Given the description of an element on the screen output the (x, y) to click on. 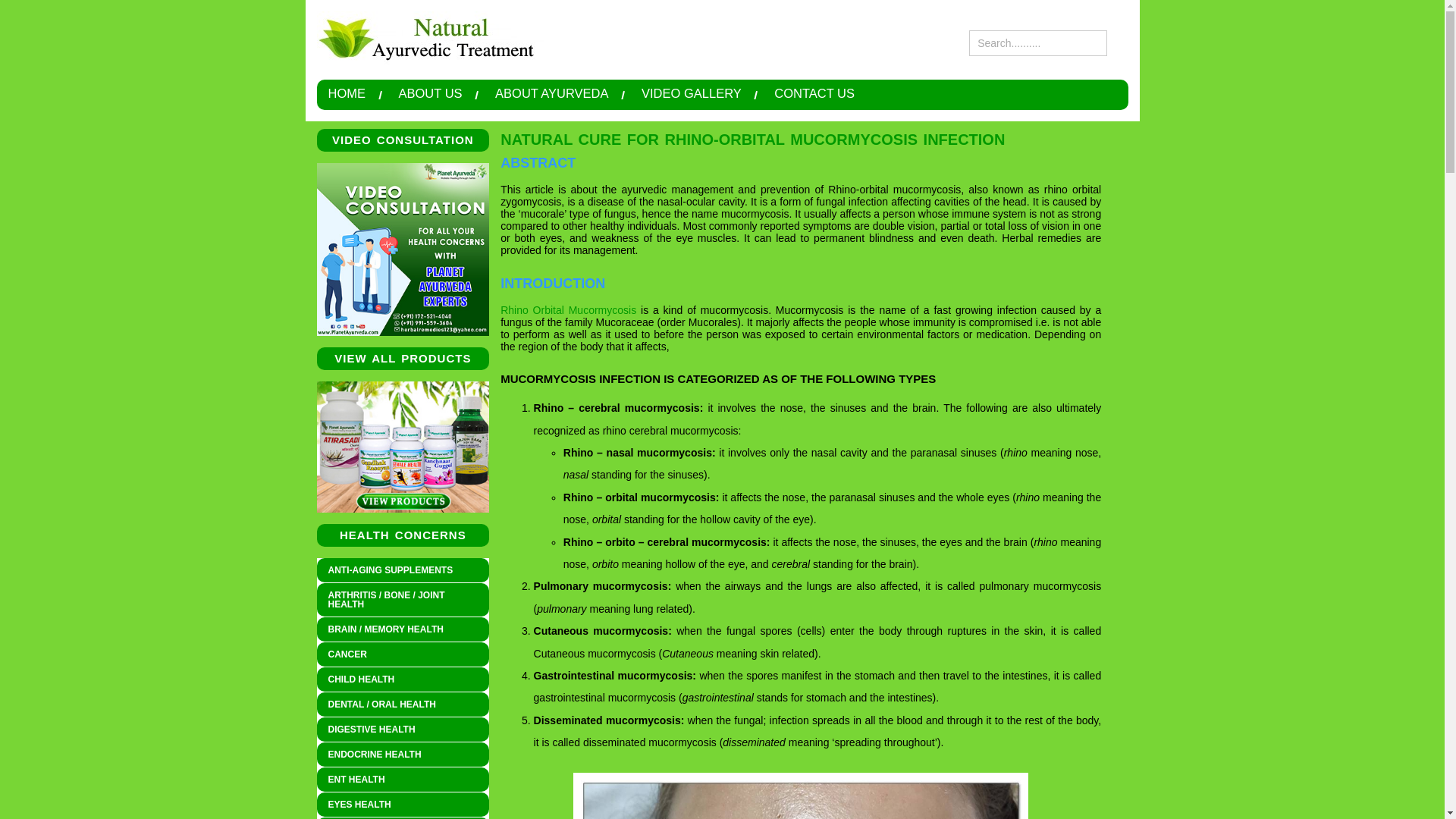
Online Video Consultation (403, 248)
ABOUT US (430, 92)
Rhino-Orbital Mucormycosis Infection (800, 796)
Search.......... (1037, 43)
ABOUT AYURVEDA (551, 92)
HOME (346, 92)
Search.......... (1037, 43)
View All Products (403, 447)
ANTI-AGING SUPPLEMENTS (403, 569)
VIDEO GALLERY (691, 92)
